Given the description of an element on the screen output the (x, y) to click on. 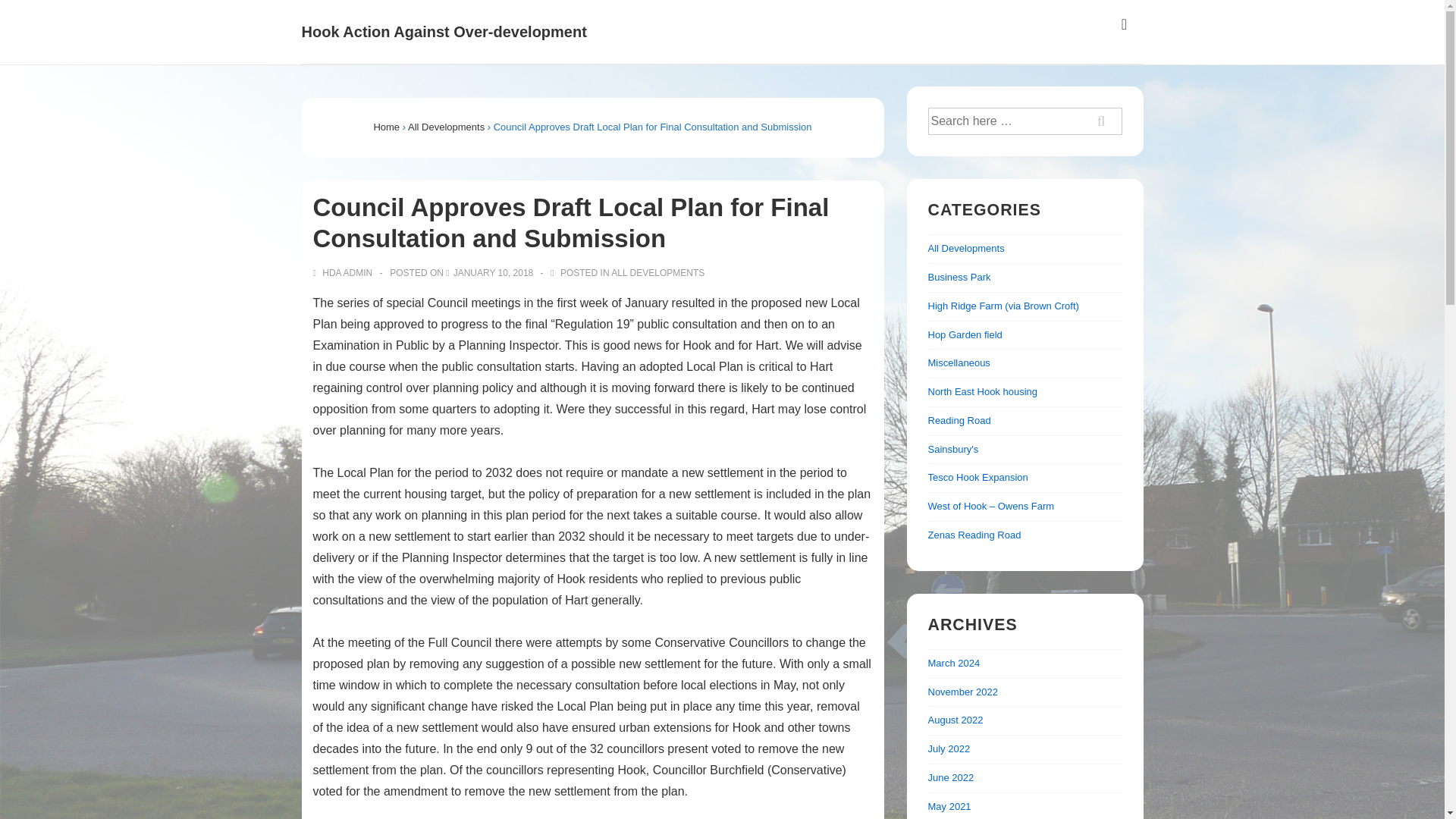
July 2022 (949, 748)
All Developments (445, 126)
Miscellaneous (959, 362)
March 2024 (953, 663)
View all posts by HDA Admin (343, 272)
Business Park (959, 276)
Hook Action Against Over-development (443, 31)
Tesco Hook Expansion (977, 477)
North East Hook housing (983, 391)
Hop Garden field (965, 334)
Sainsbury's (953, 449)
May 2021 (949, 806)
ALL DEVELOPMENTS (657, 272)
HDA ADMIN (343, 272)
